Given the description of an element on the screen output the (x, y) to click on. 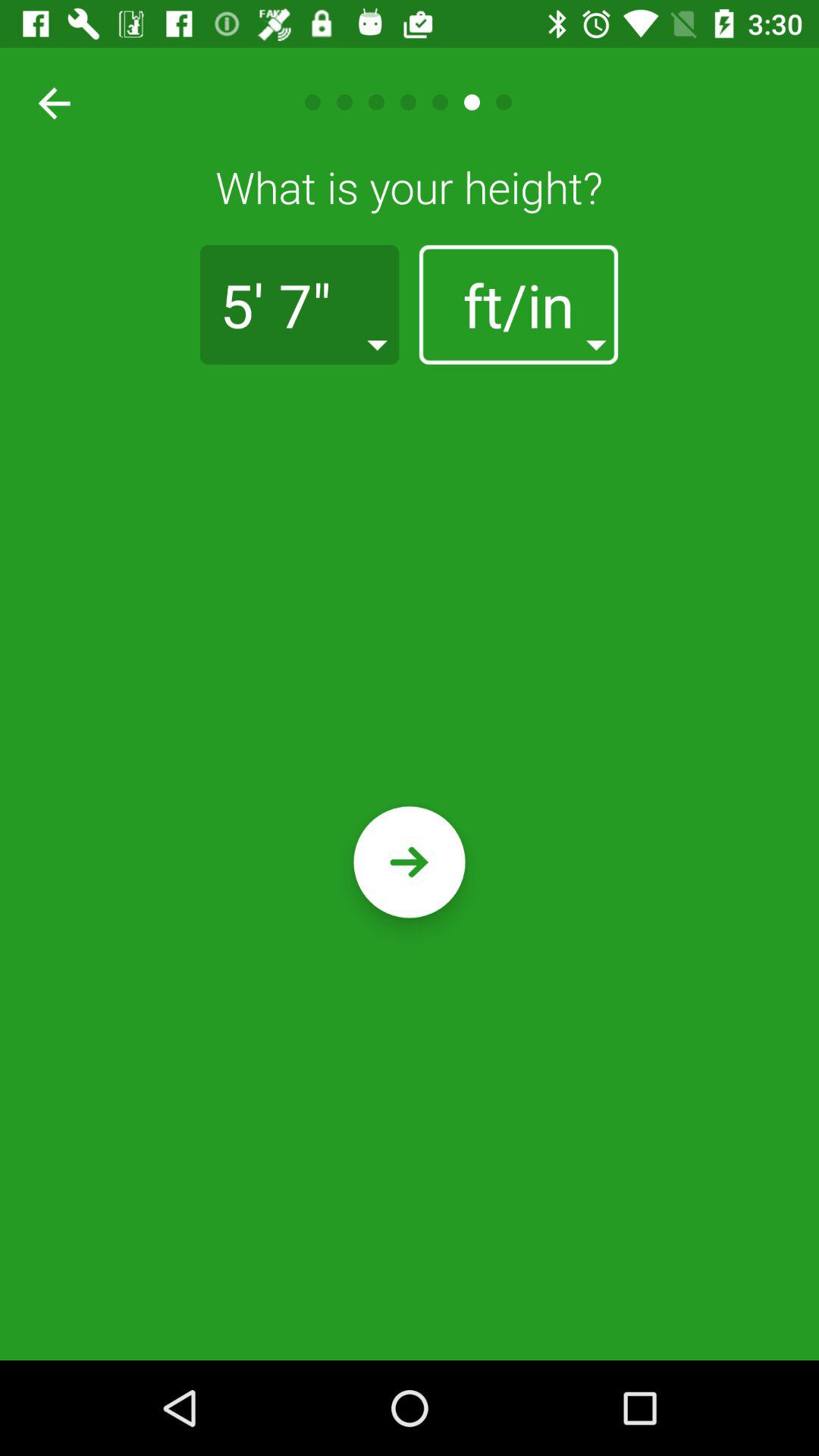
ok (409, 861)
